Given the description of an element on the screen output the (x, y) to click on. 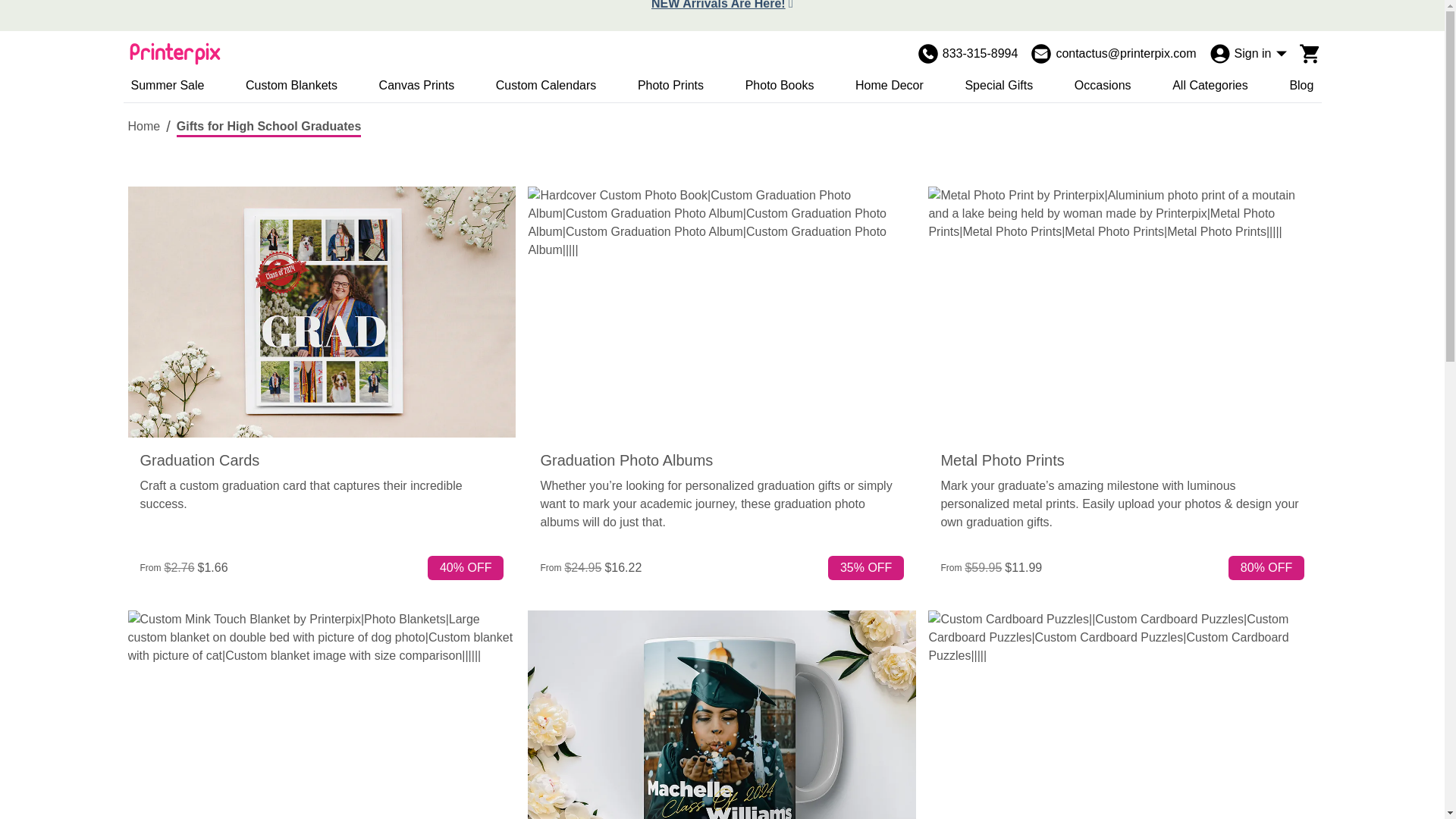
Custom Calendars (546, 85)
Blog (1300, 85)
Sign in (1247, 53)
Photo Prints (670, 85)
Home (144, 126)
Canvas Prints (416, 85)
Summer Sale (167, 85)
Custom Blankets (291, 85)
Photo Books (779, 85)
